Given the description of an element on the screen output the (x, y) to click on. 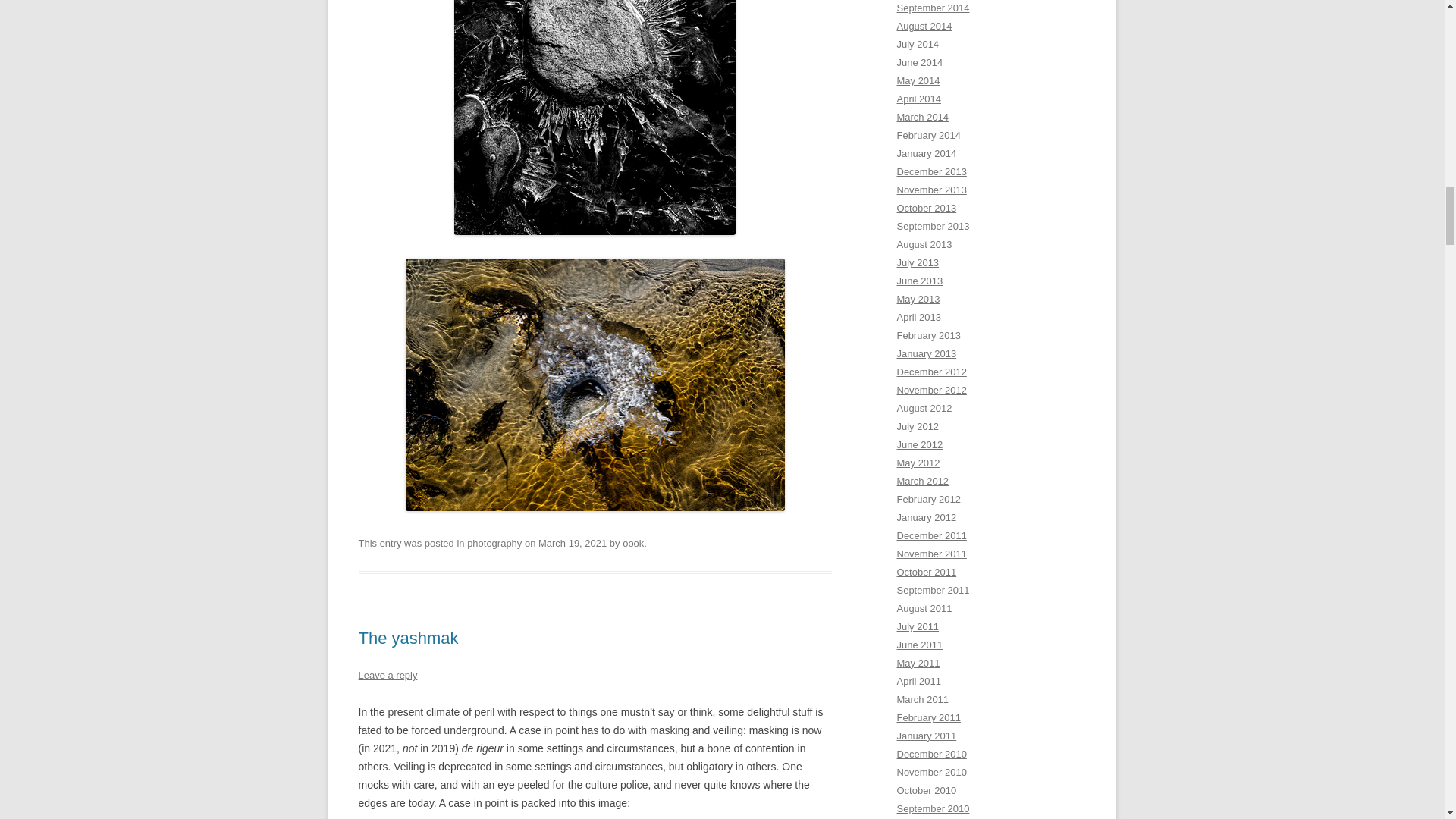
photography (494, 542)
6:21 pm (572, 542)
19iii2159 (594, 231)
Leave a reply (387, 674)
View all posts by oook (633, 542)
19iii2152 (595, 507)
oook (633, 542)
March 19, 2021 (572, 542)
The yashmak (408, 637)
